Given the description of an element on the screen output the (x, y) to click on. 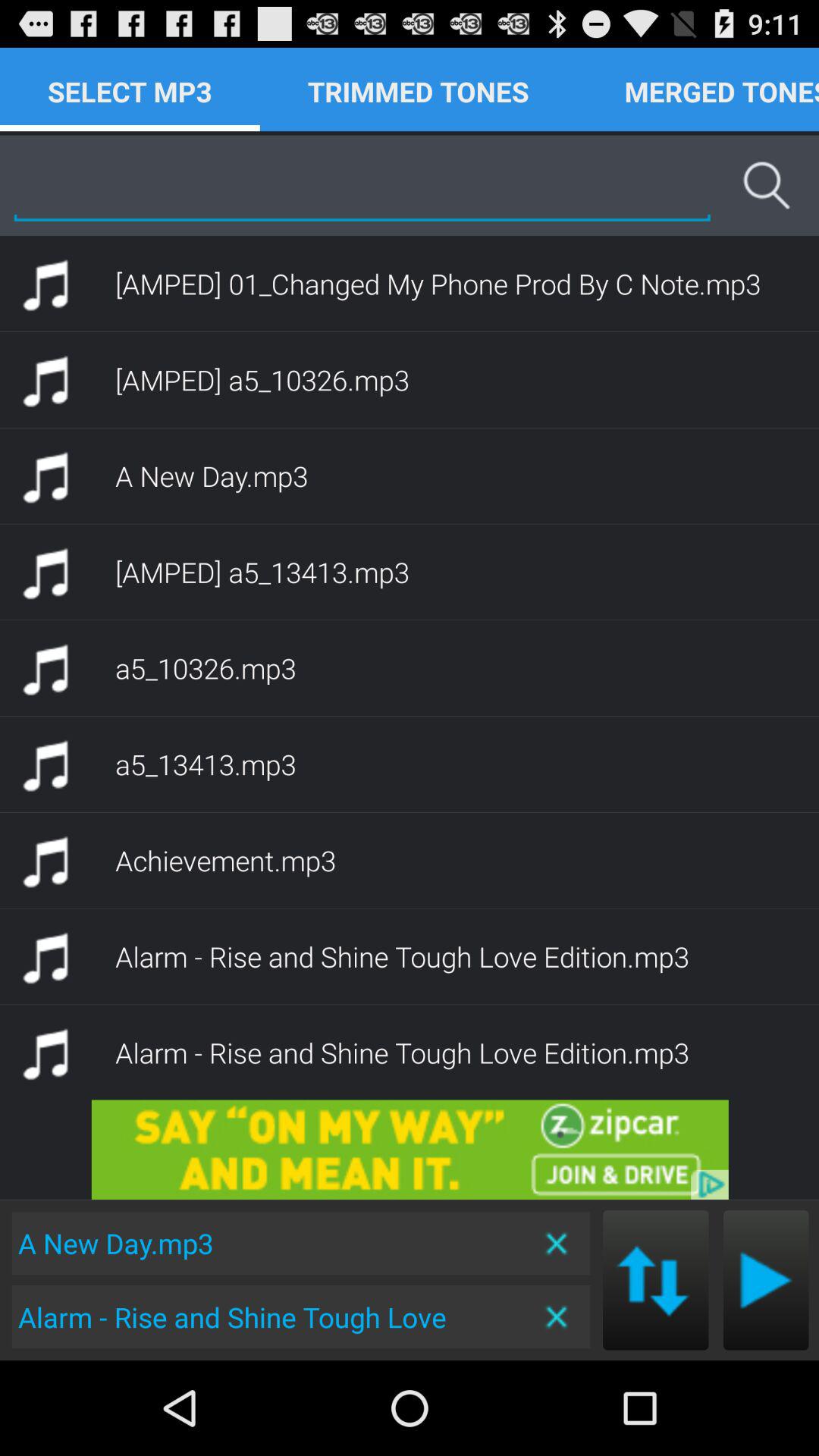
move up or down (655, 1280)
